Given the description of an element on the screen output the (x, y) to click on. 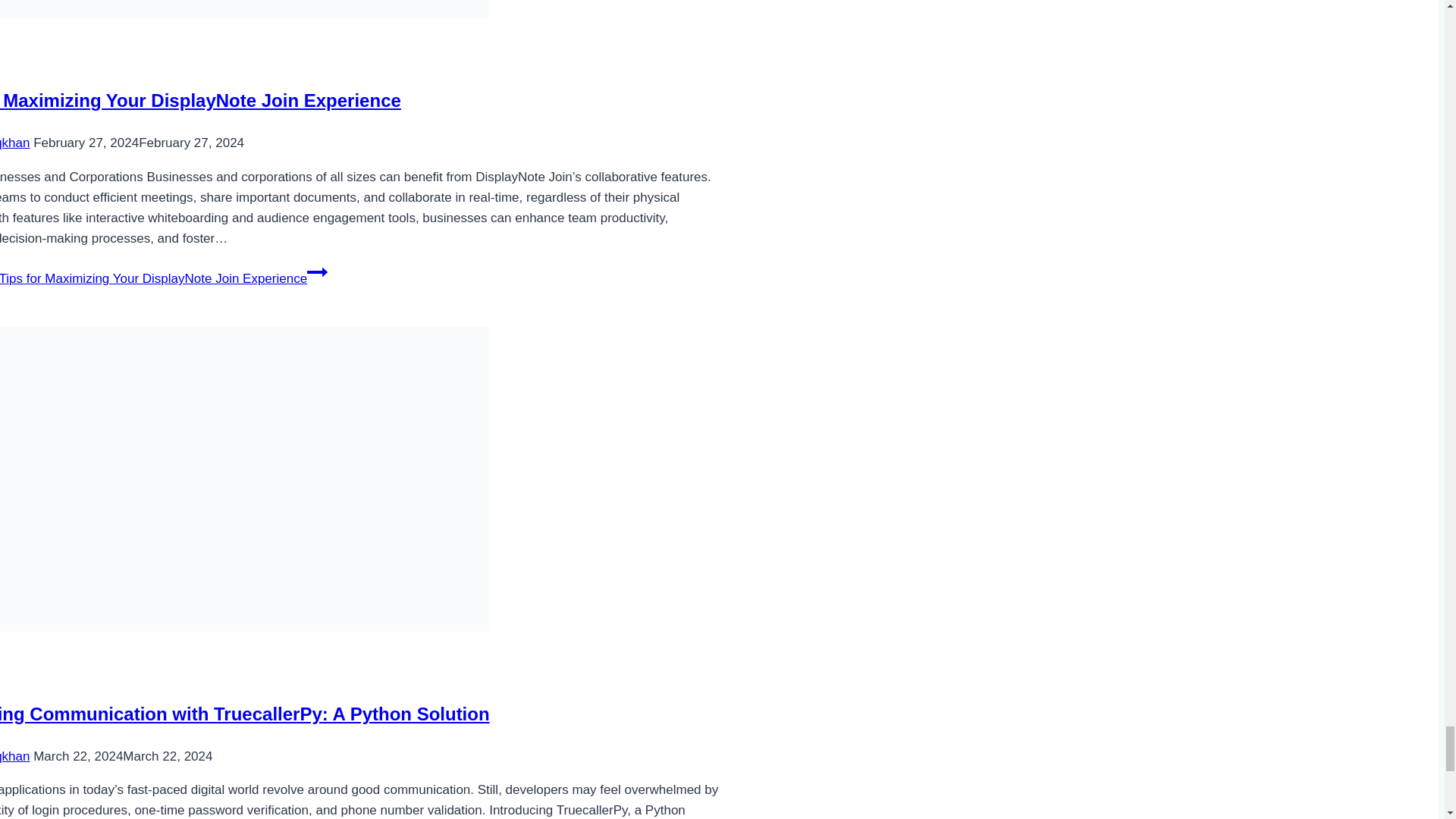
Continue (317, 271)
